Given the description of an element on the screen output the (x, y) to click on. 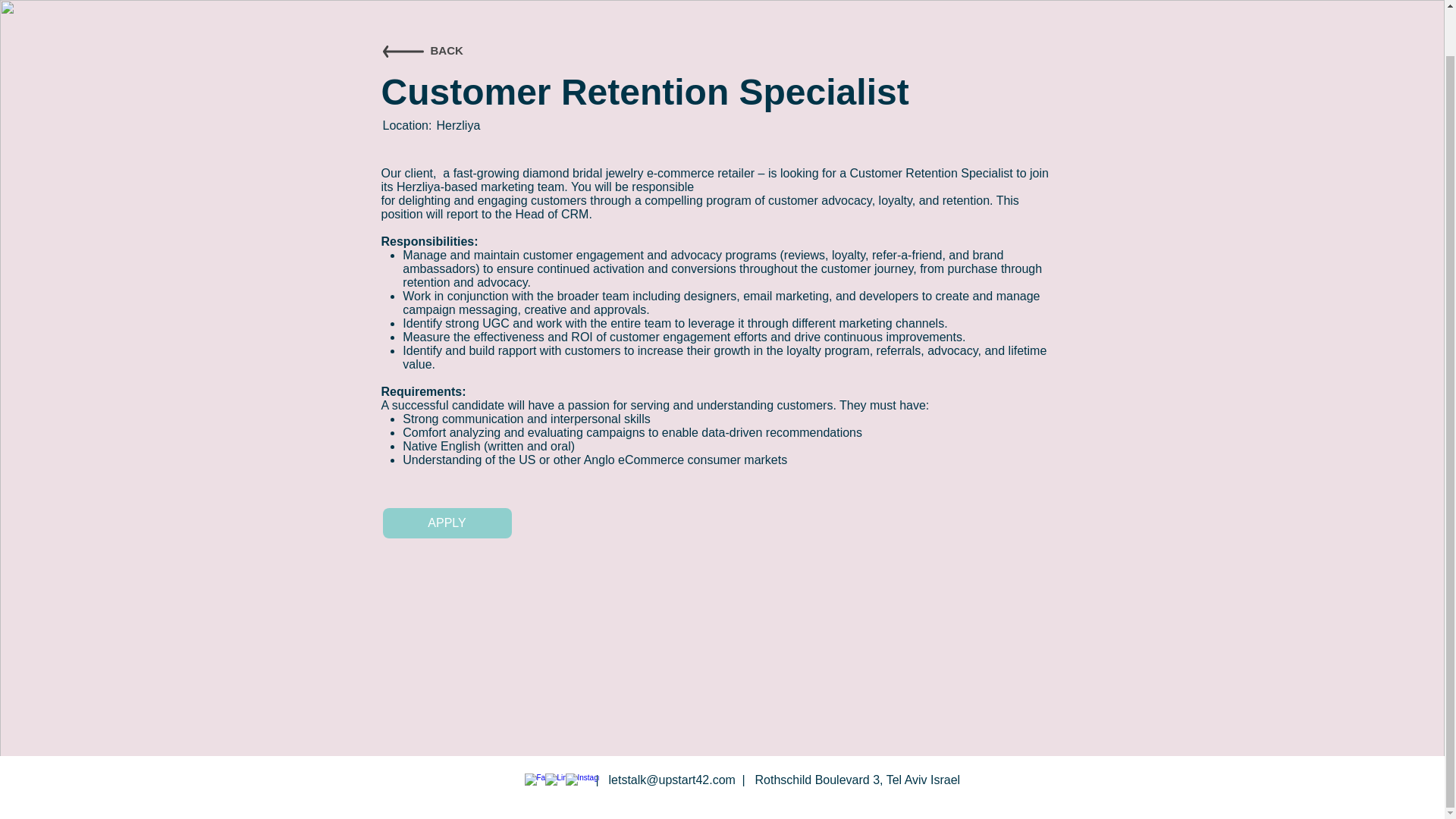
BLOG (1069, 1)
BACK (446, 50)
HOME (826, 1)
OPEN POSITIONS (981, 1)
ABOUT (888, 1)
